Given the description of an element on the screen output the (x, y) to click on. 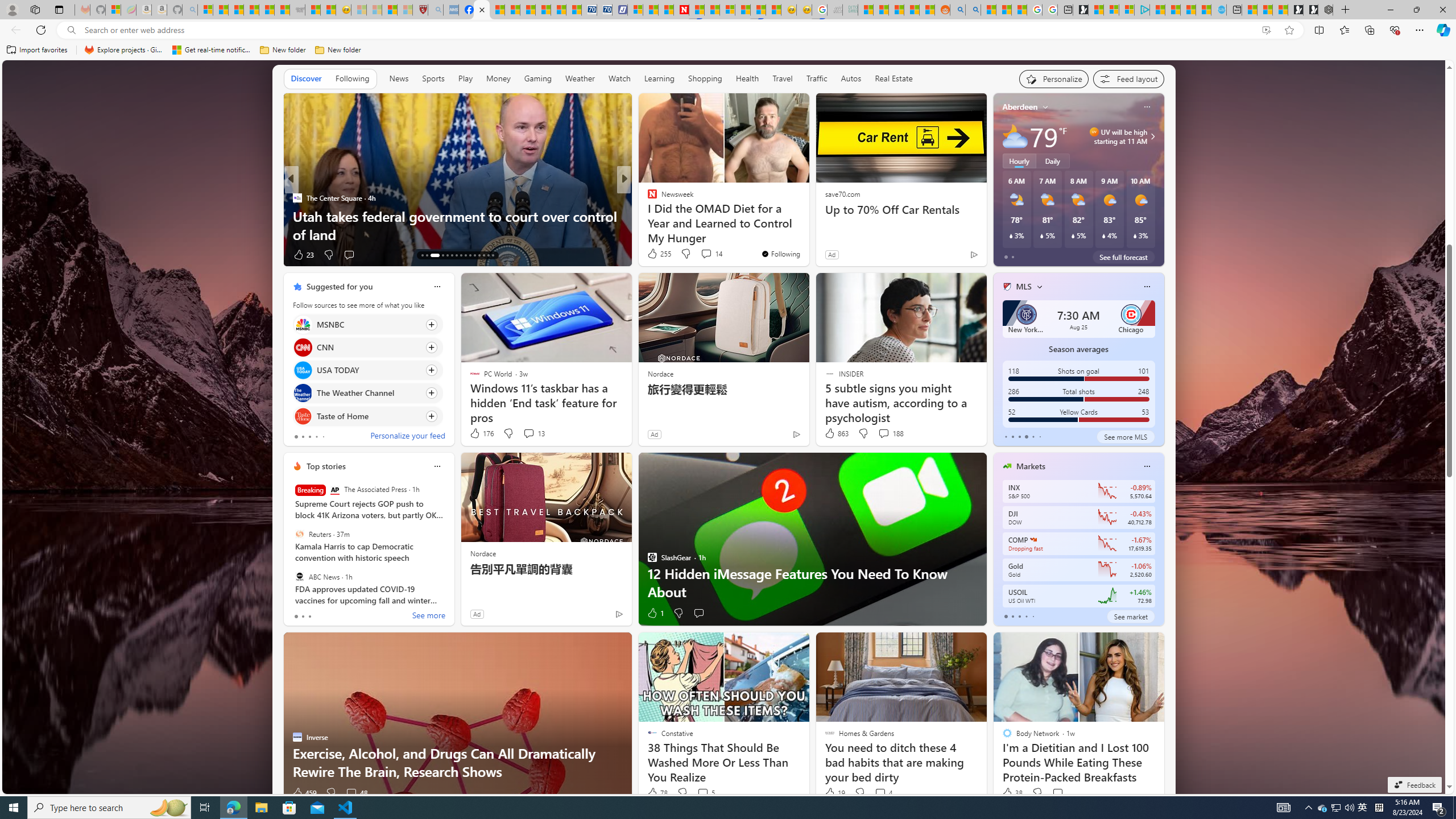
38 Like (1010, 792)
View comments 188 Comment (883, 432)
